Given the description of an element on the screen output the (x, y) to click on. 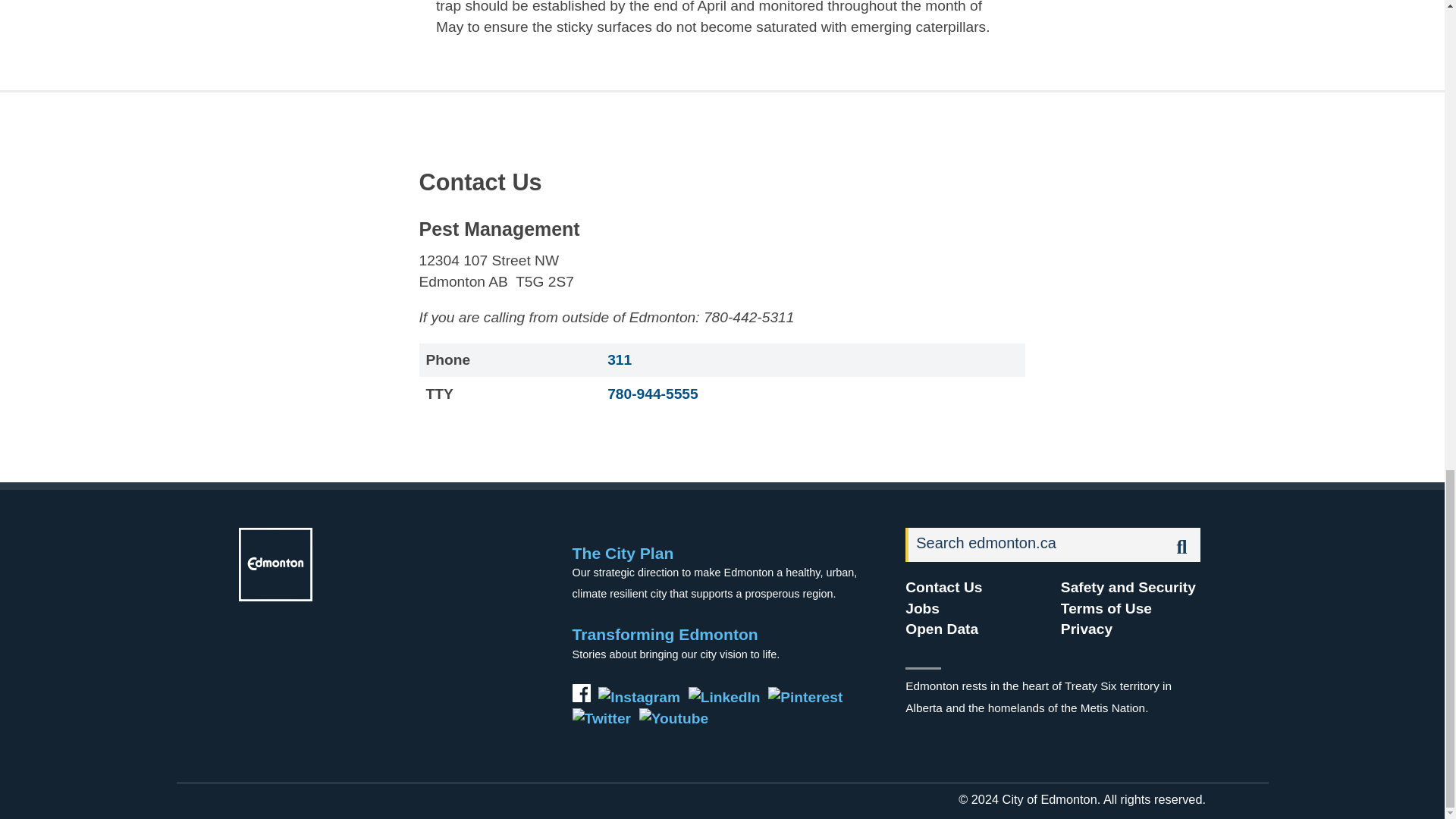
780-944-5555 (652, 393)
Transforming Edmonton (665, 633)
311 (619, 359)
The City Plan (623, 552)
Search (1034, 544)
